Given the description of an element on the screen output the (x, y) to click on. 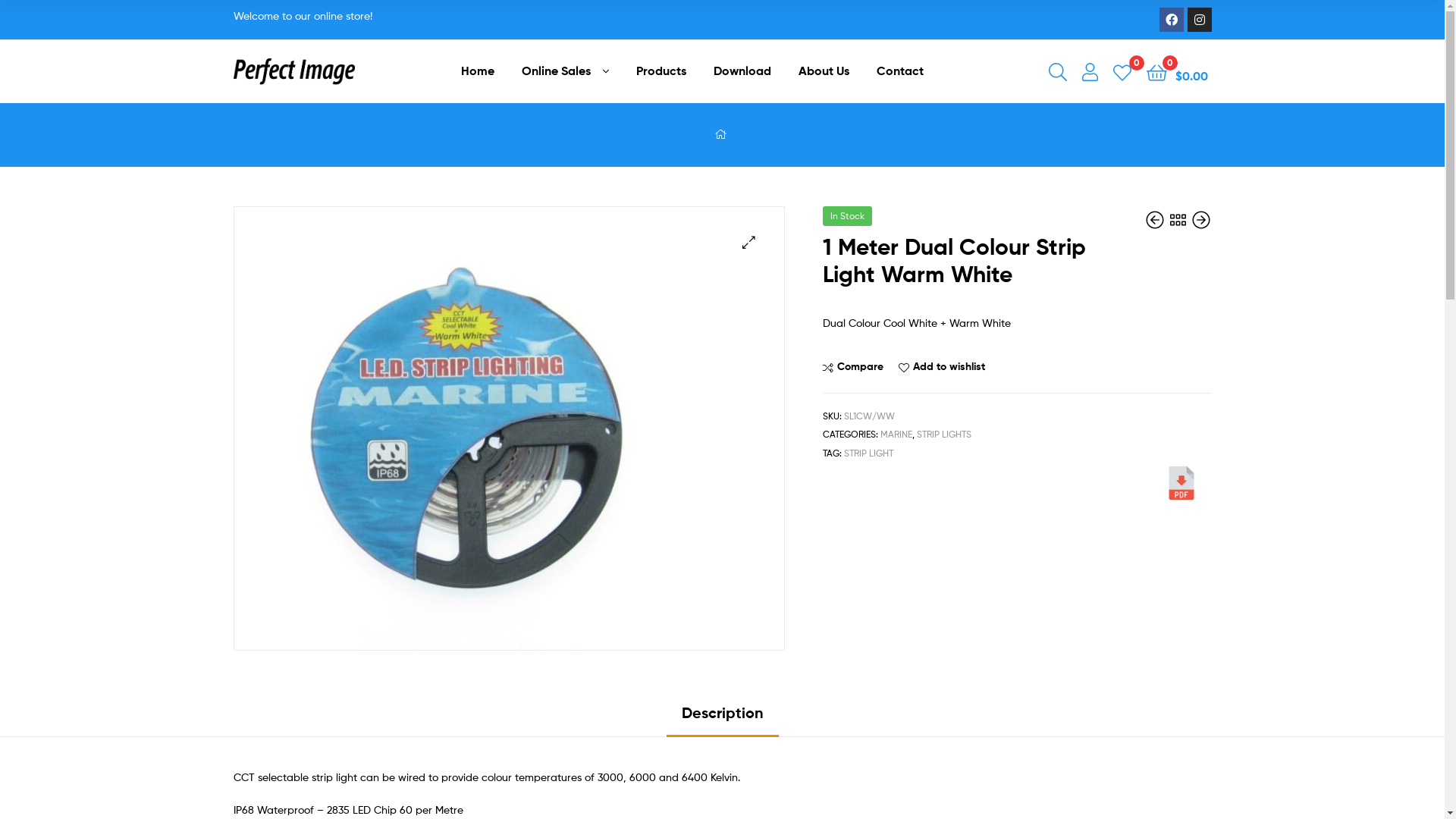
Compare Element type: text (852, 366)
Download Element type: text (742, 70)
0
$0.00 Element type: text (1177, 71)
cct strip Element type: hover (460, 428)
Description Element type: text (721, 718)
Add to wishlist Element type: text (941, 366)
MARINE Element type: text (896, 433)
0 Element type: text (1122, 71)
Contact Element type: text (899, 70)
Home Element type: text (477, 70)
About Us Element type: text (823, 70)
Generate PDF Element type: hover (1180, 483)
STRIP LIGHTS Element type: text (943, 433)
Online Sales Element type: text (565, 70)
Search Element type: text (884, 248)
Back to shop Element type: hover (1177, 218)
STRIP LIGHT Element type: text (868, 452)
Products Element type: text (661, 70)
